Given the description of an element on the screen output the (x, y) to click on. 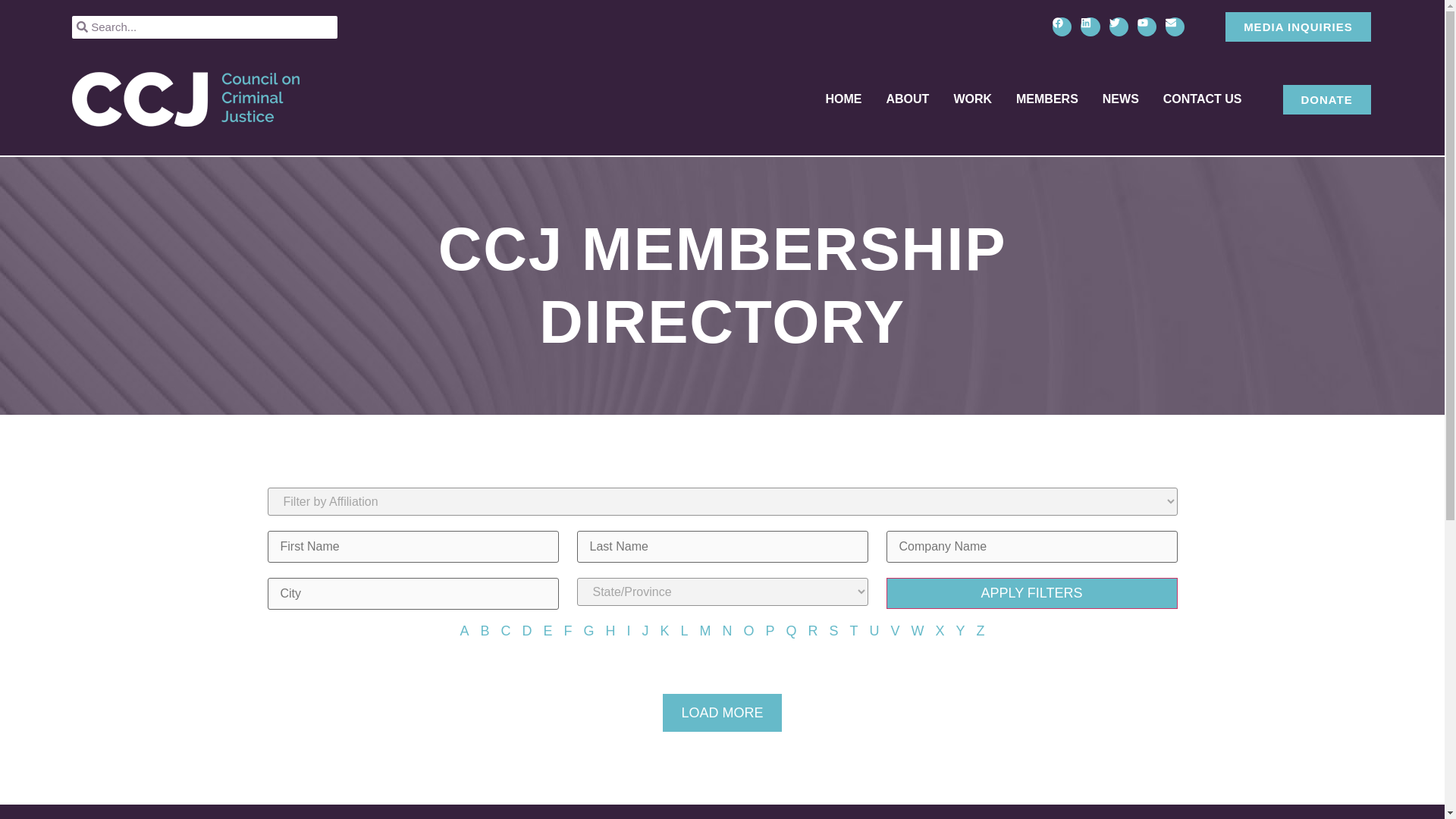
NEWS (1120, 98)
MEDIA INQUIRIES (1298, 26)
WORK (972, 98)
MEMBERS (1047, 98)
CONTACT US (1202, 98)
ABOUT (906, 98)
HOME (843, 98)
